Given the description of an element on the screen output the (x, y) to click on. 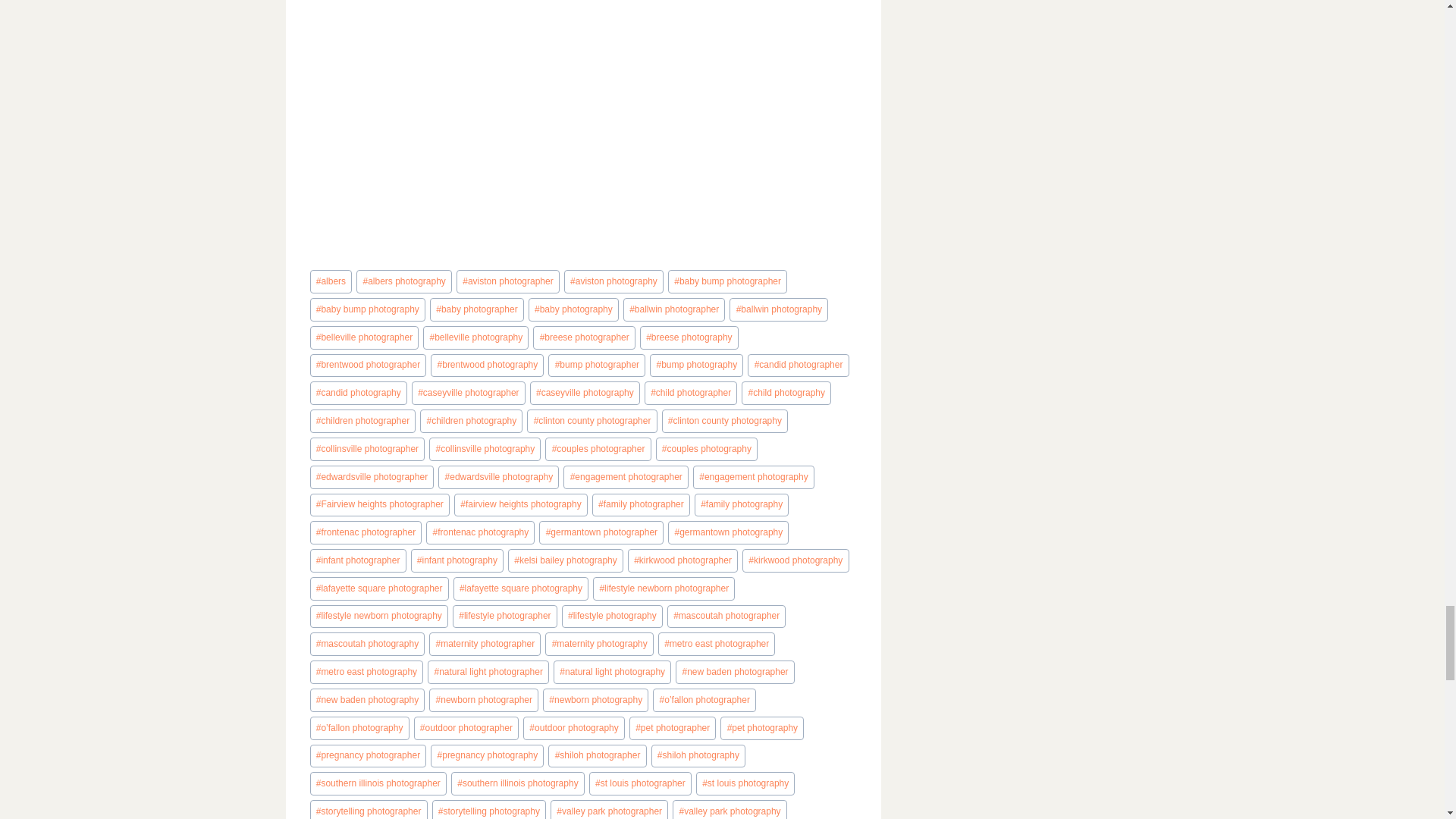
ballwin photographer (674, 309)
belleville photography (475, 337)
baby photography (573, 309)
aviston photographer (508, 281)
brentwood photographer (367, 365)
albers (330, 281)
belleville photographer (363, 337)
baby bump photographer (727, 281)
ballwin photography (778, 309)
albers photography (403, 281)
